Given the description of an element on the screen output the (x, y) to click on. 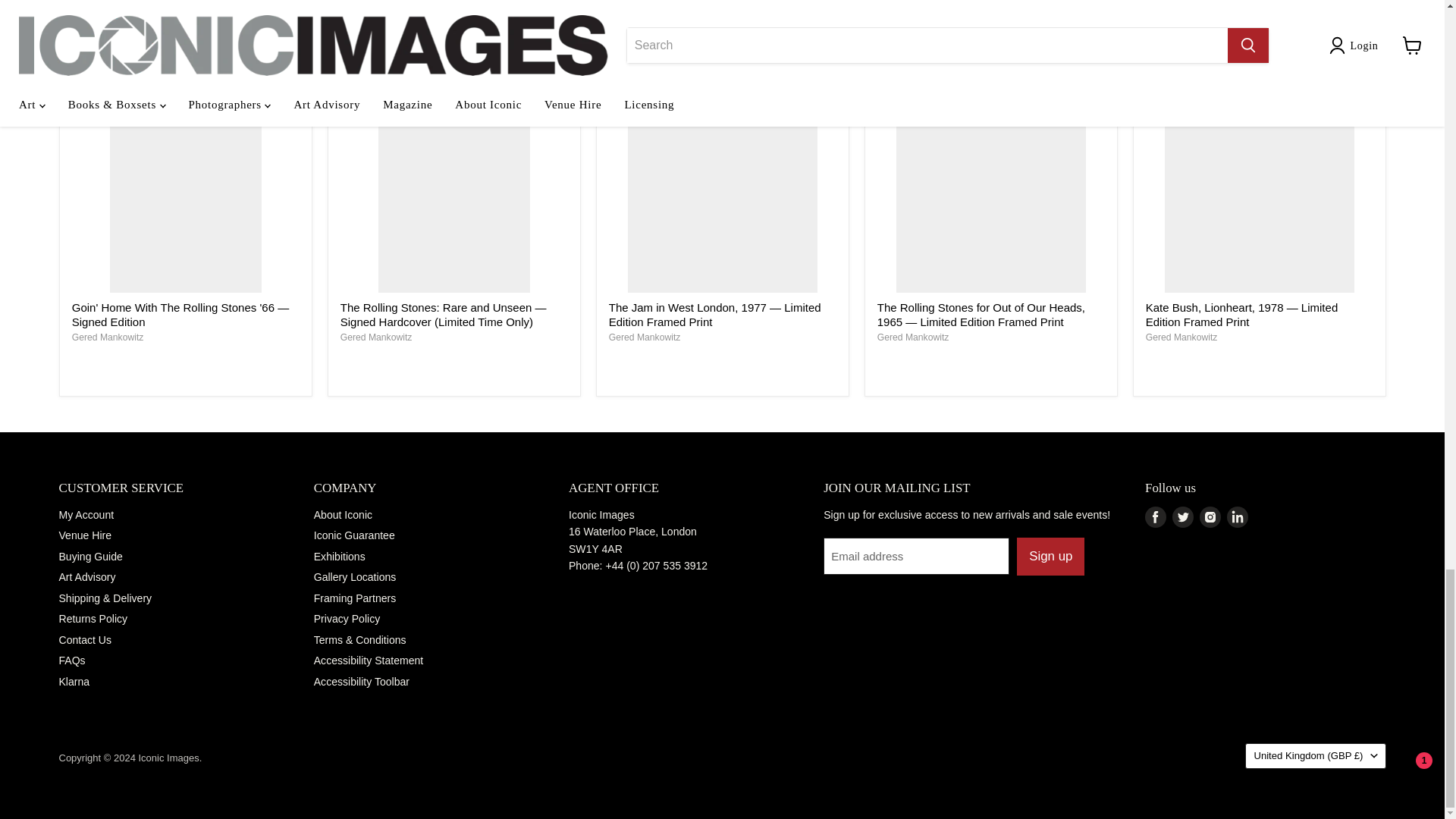
Gered Mankowitz (107, 337)
Gered Mankowitz (376, 337)
Twitter (1182, 516)
Gered Mankowitz (644, 337)
Gered Mankowitz (1181, 337)
Gered Mankowitz (913, 337)
Facebook (1155, 516)
